Given the description of an element on the screen output the (x, y) to click on. 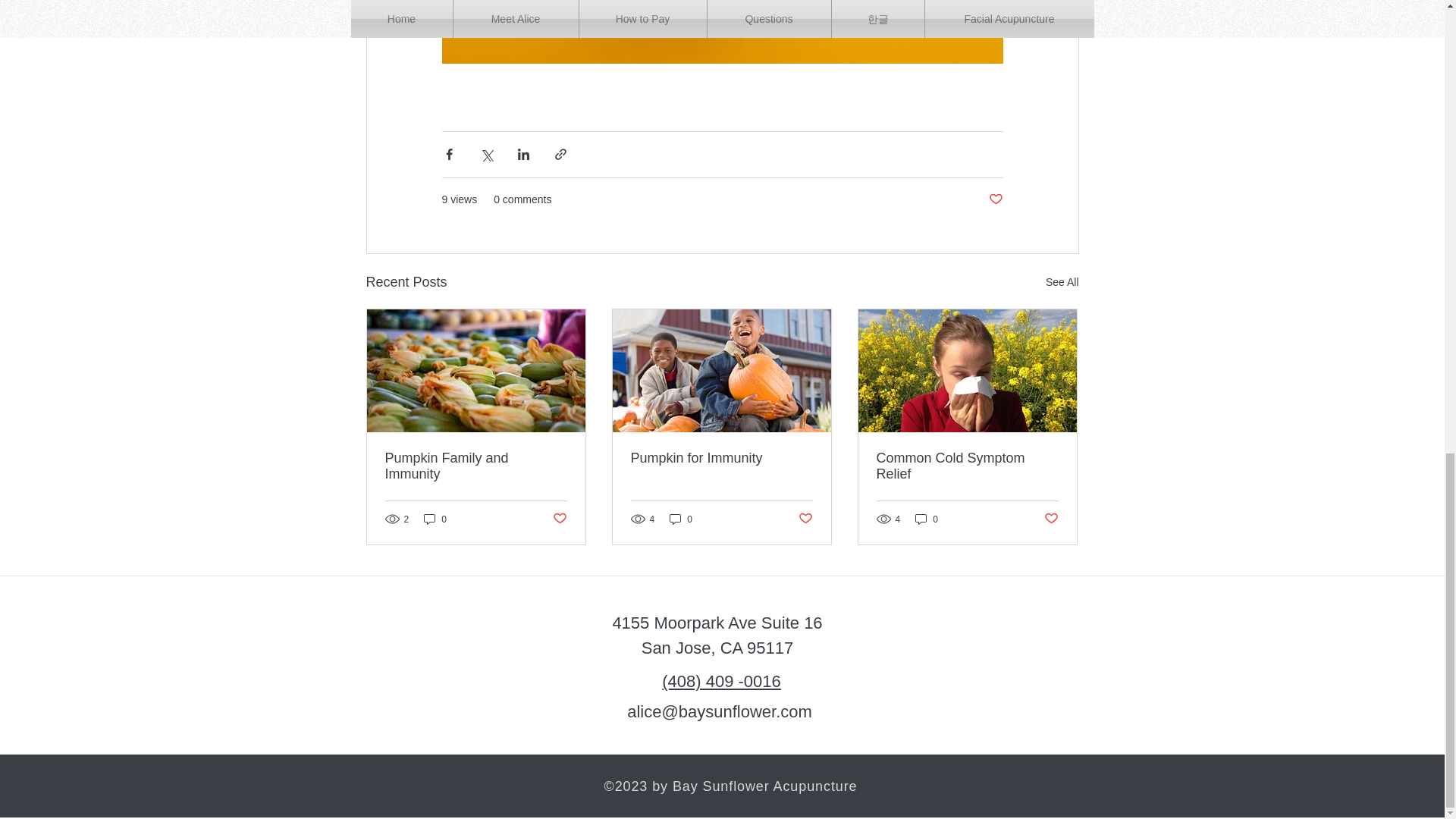
0 (926, 518)
Post not marked as liked (558, 519)
Post not marked as liked (995, 199)
Post not marked as liked (1050, 519)
See All (1061, 282)
0 (435, 518)
Post not marked as liked (804, 519)
Common Cold Symptom Relief (967, 466)
Pumpkin for Immunity (721, 458)
Pumpkin Family and Immunity (476, 466)
0 (681, 518)
